Given the description of an element on the screen output the (x, y) to click on. 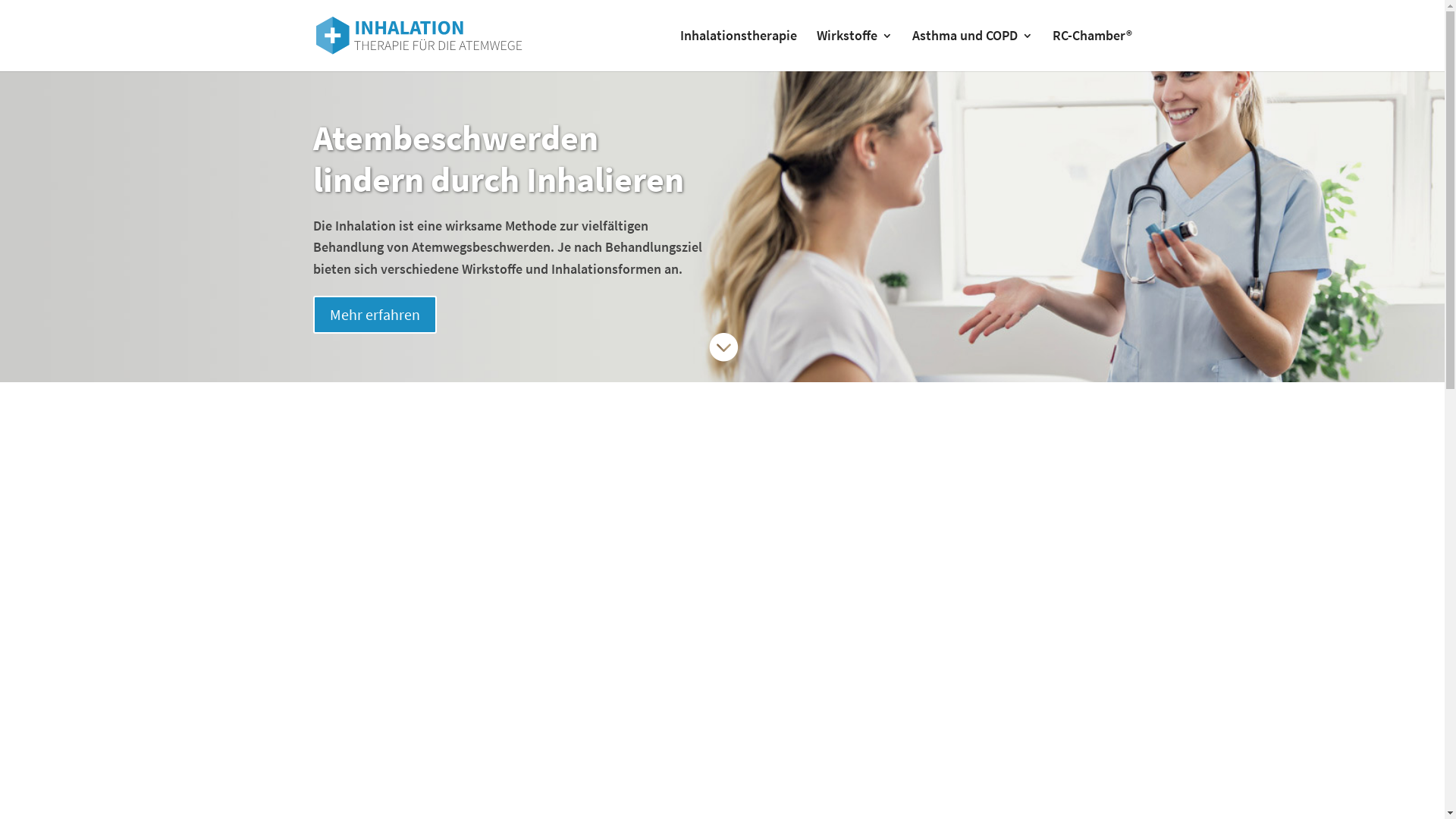
Wirkstoffe Element type: text (853, 50)
Mehr erfahren Element type: text (374, 314)
Inhalationstherapie Element type: text (737, 50)
Asthma und COPD Element type: text (971, 50)
